Given the description of an element on the screen output the (x, y) to click on. 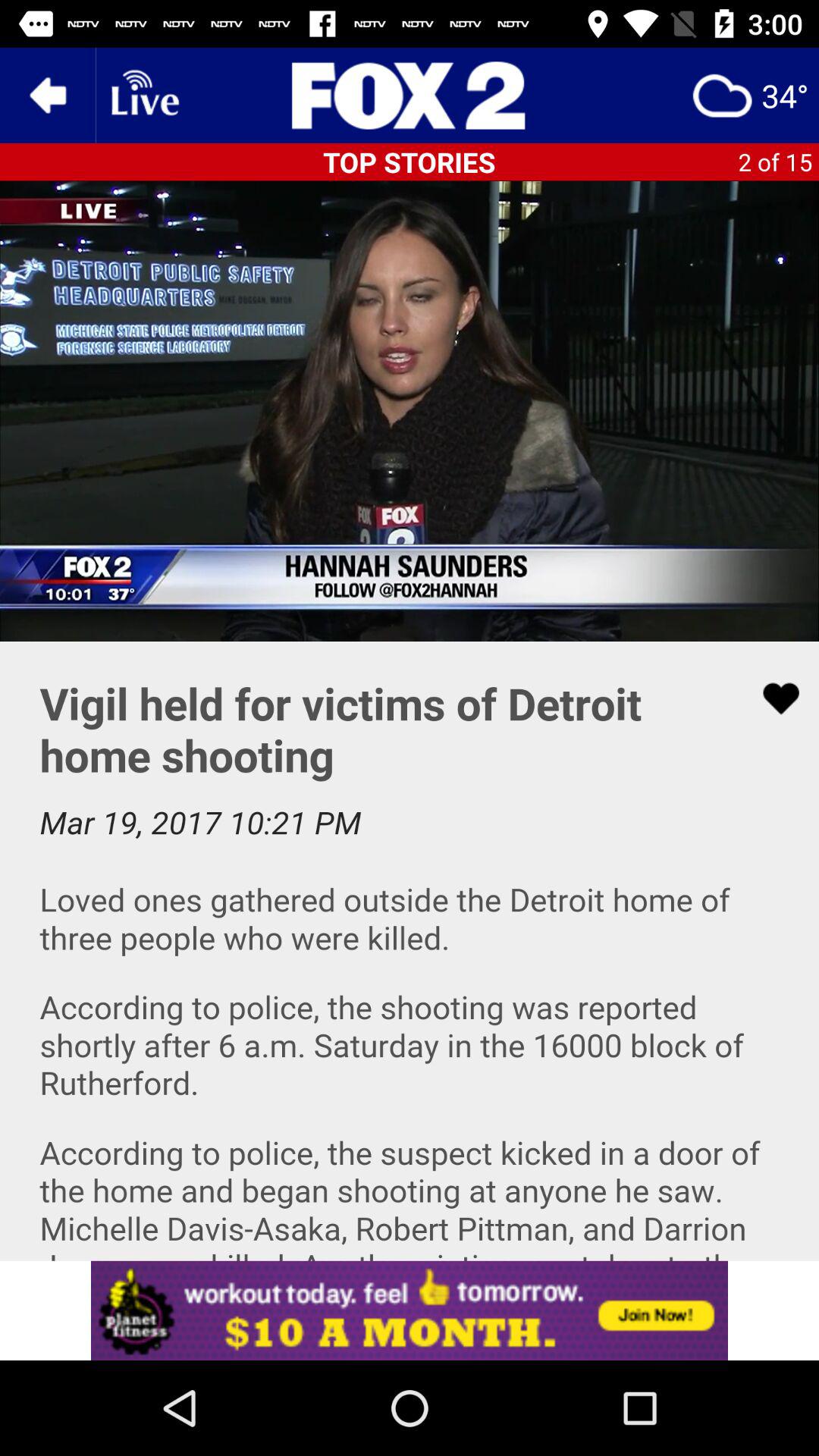
displays current livestreams (143, 95)
